Given the description of an element on the screen output the (x, y) to click on. 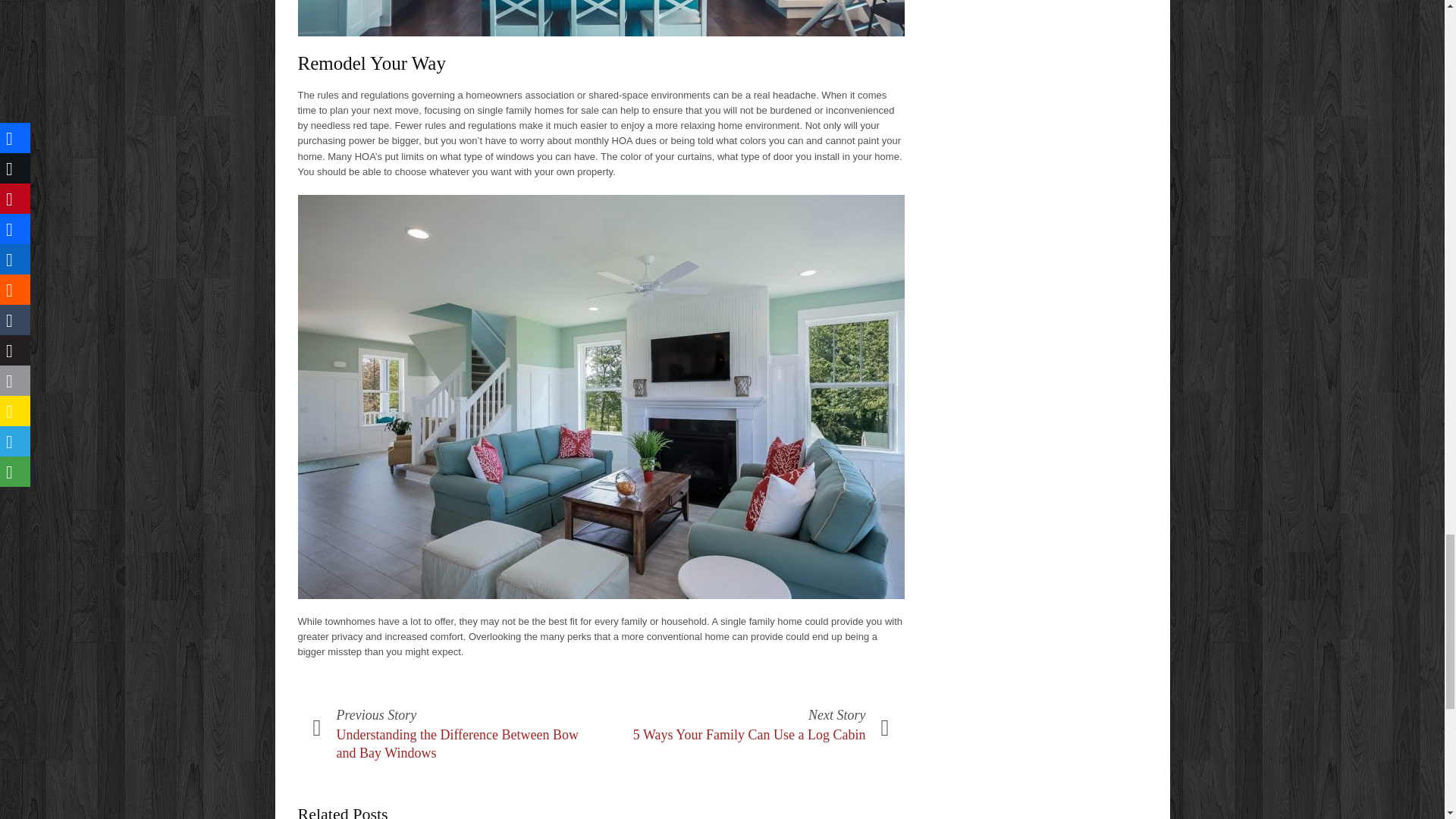
5 Perks of a Single Family Home VS a Townhome (600, 18)
